Given the description of an element on the screen output the (x, y) to click on. 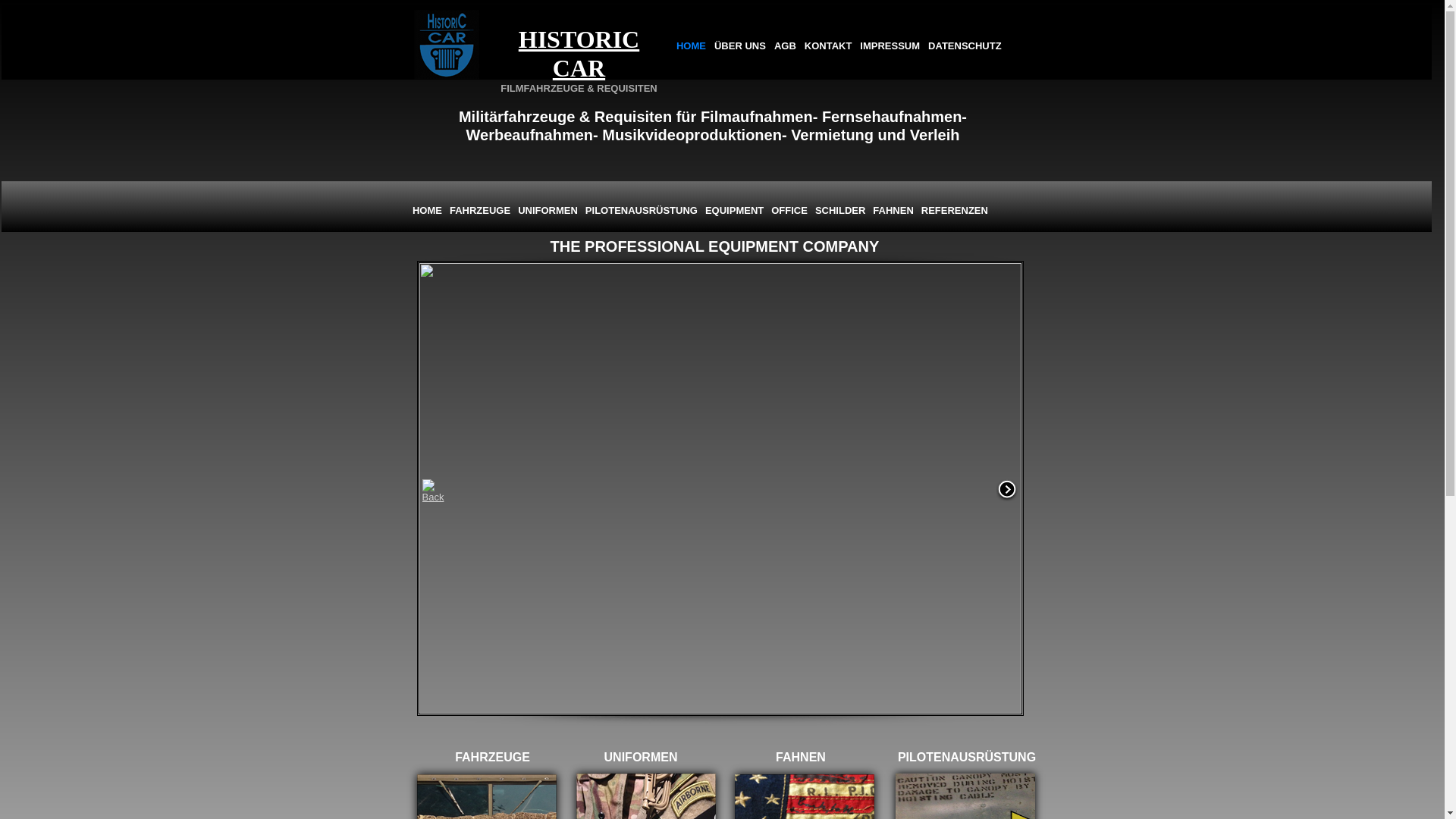
DATENSCHUTZ Element type: text (964, 46)
EQUIPMENT Element type: text (734, 210)
SCHILDER Element type: text (840, 210)
KONTAKT Element type: text (828, 46)
AGB Element type: text (785, 46)
OFFICE Element type: text (789, 210)
FAHNEN Element type: text (892, 210)
HOME Element type: text (690, 46)
HOME Element type: text (426, 210)
UNIFORMEN Element type: text (547, 210)
REFERENZEN Element type: text (954, 210)
FAHRZEUGE Element type: text (479, 210)
IMPRESSUM Element type: text (889, 46)
